Given the description of an element on the screen output the (x, y) to click on. 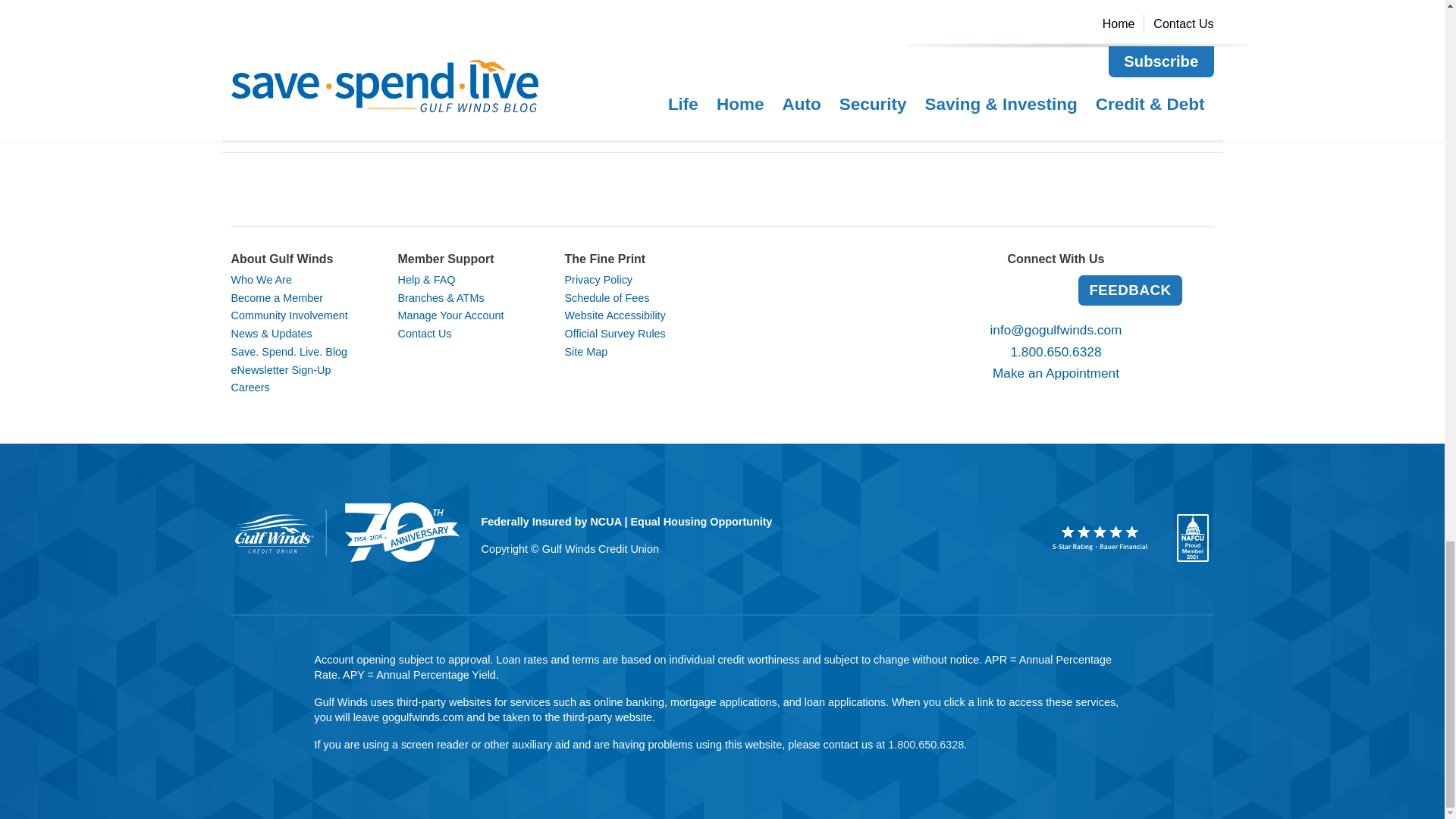
SUBSCRIBE (860, 100)
Manage Your Account (450, 315)
eNewsletter Sign-Up (280, 369)
Careers (249, 387)
Schedule of Fees (606, 297)
Contact Us (424, 333)
Privacy Policy (597, 279)
Community Involvement (288, 315)
Save. Spend. Live. Blog (288, 351)
Who We Are (261, 279)
Become a Member (276, 297)
